Given the description of an element on the screen output the (x, y) to click on. 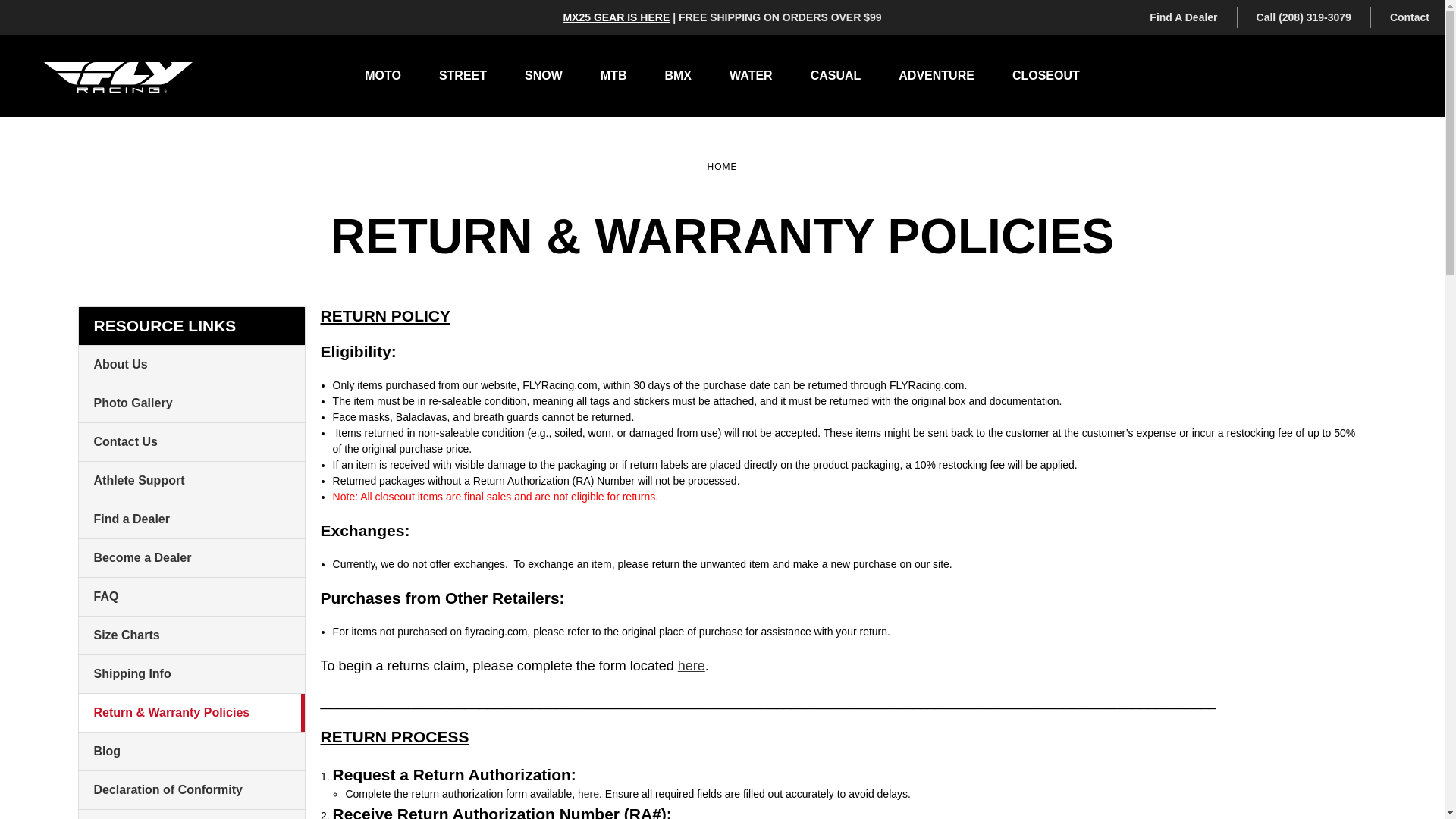
Skip to main content (721, 64)
Click here to complete a returns claim (691, 665)
FLY Racing (117, 76)
MOTO (383, 76)
Contact (1409, 16)
MX25 GEAR IS HERE (615, 17)
Find A Dealer (1183, 16)
